Given the description of an element on the screen output the (x, y) to click on. 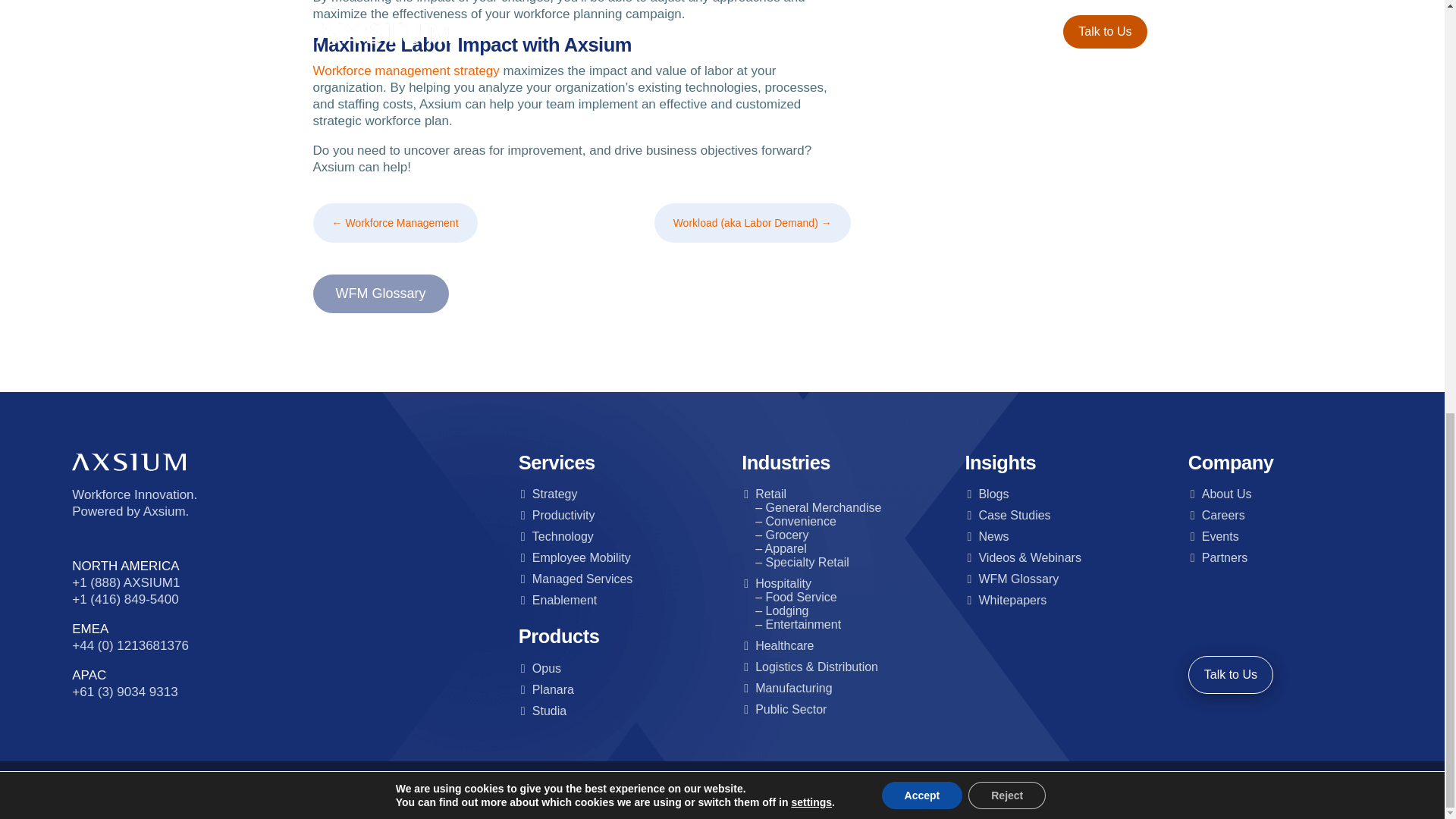
Logo White (128, 462)
Accessibility Policy and AODA Plan 2023 (778, 789)
